Given the description of an element on the screen output the (x, y) to click on. 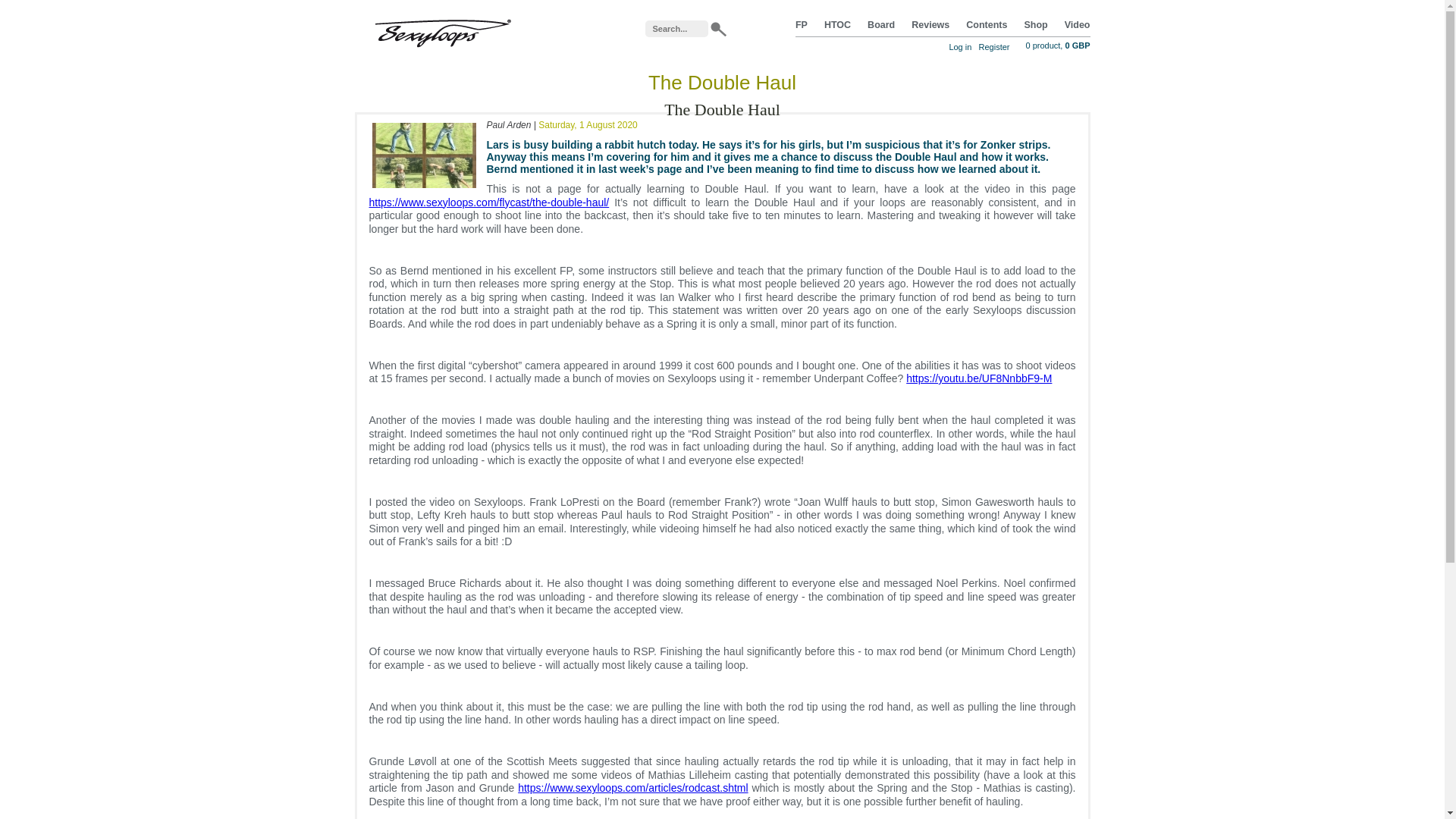
Video (1077, 24)
Shop (1034, 24)
Board (881, 24)
Register (994, 46)
Contents (986, 24)
HTOC (837, 24)
The Double Haul (423, 190)
Sexyloops (442, 29)
Reviews (930, 24)
Log in (960, 46)
